Given the description of an element on the screen output the (x, y) to click on. 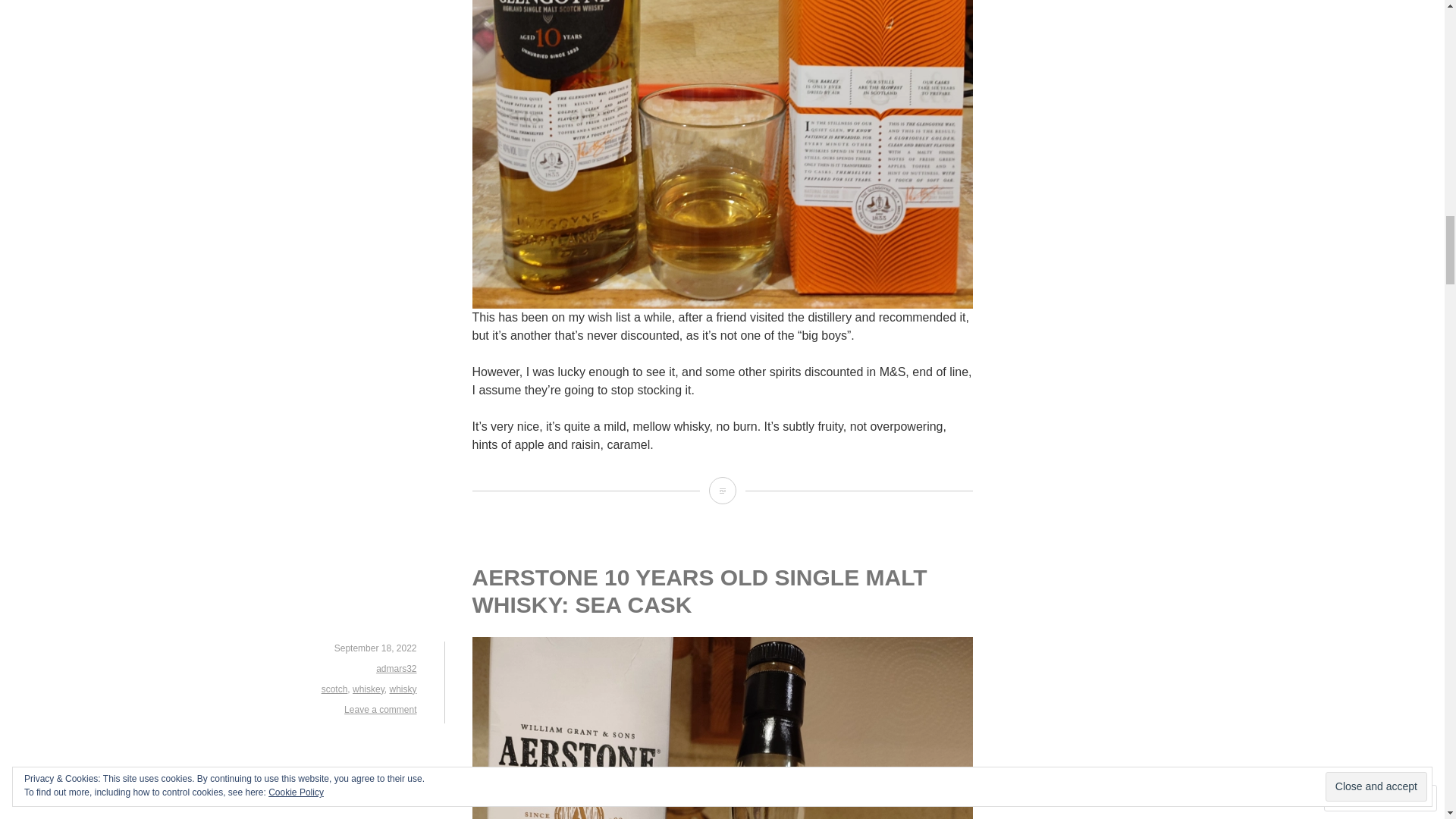
September 18, 2022 (375, 647)
Leave a comment (379, 709)
scotch (334, 688)
whisky (402, 688)
admars32 (395, 668)
AERSTONE 10 YEARS OLD SINGLE MALT WHISKY: SEA CASK (698, 591)
whiskey (368, 688)
